Given the description of an element on the screen output the (x, y) to click on. 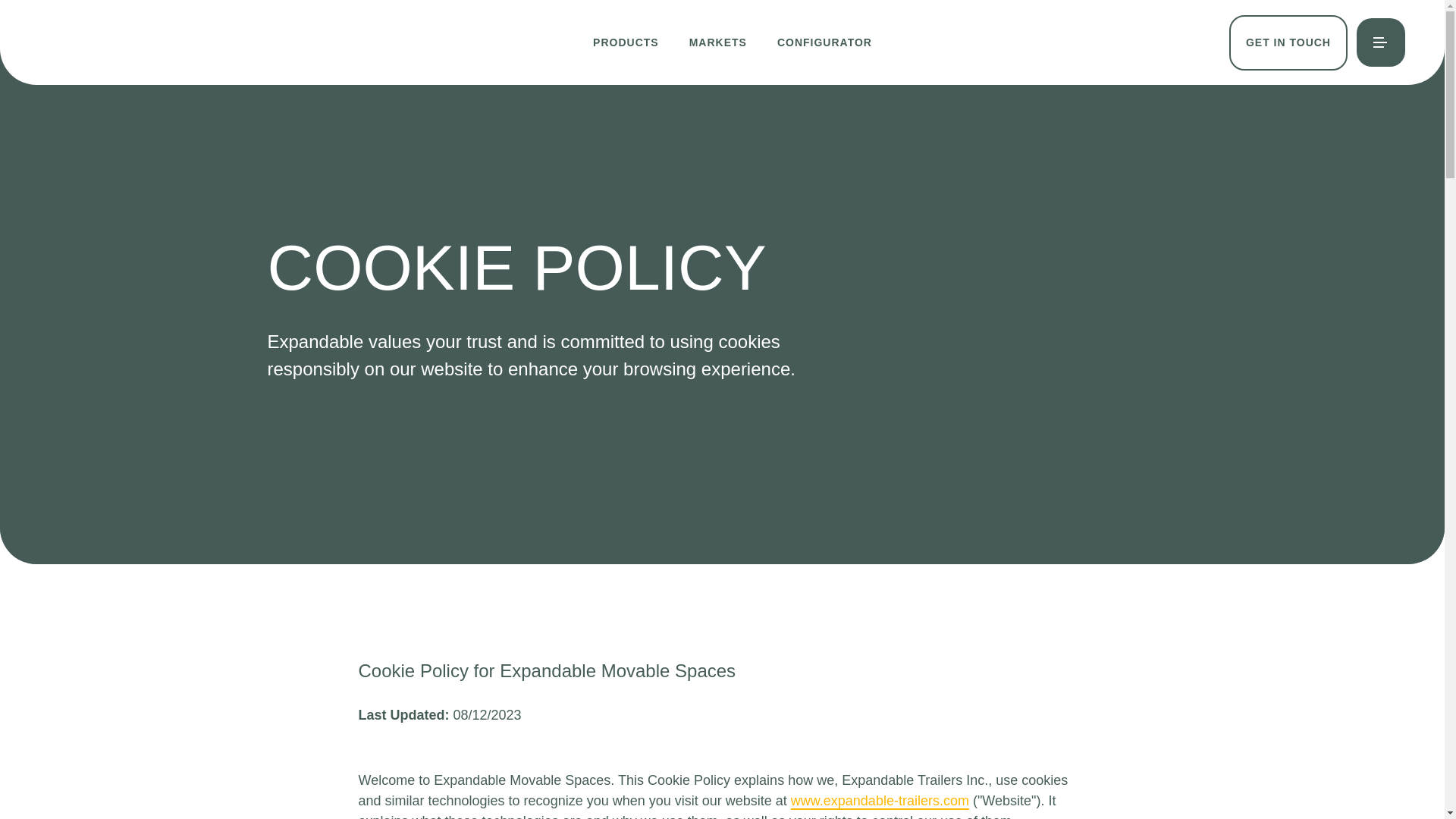
CONFIGURATOR (823, 42)
GET IN TOUCH (1288, 42)
MARKETS (717, 42)
PRODUCTS (626, 42)
